Given the description of an element on the screen output the (x, y) to click on. 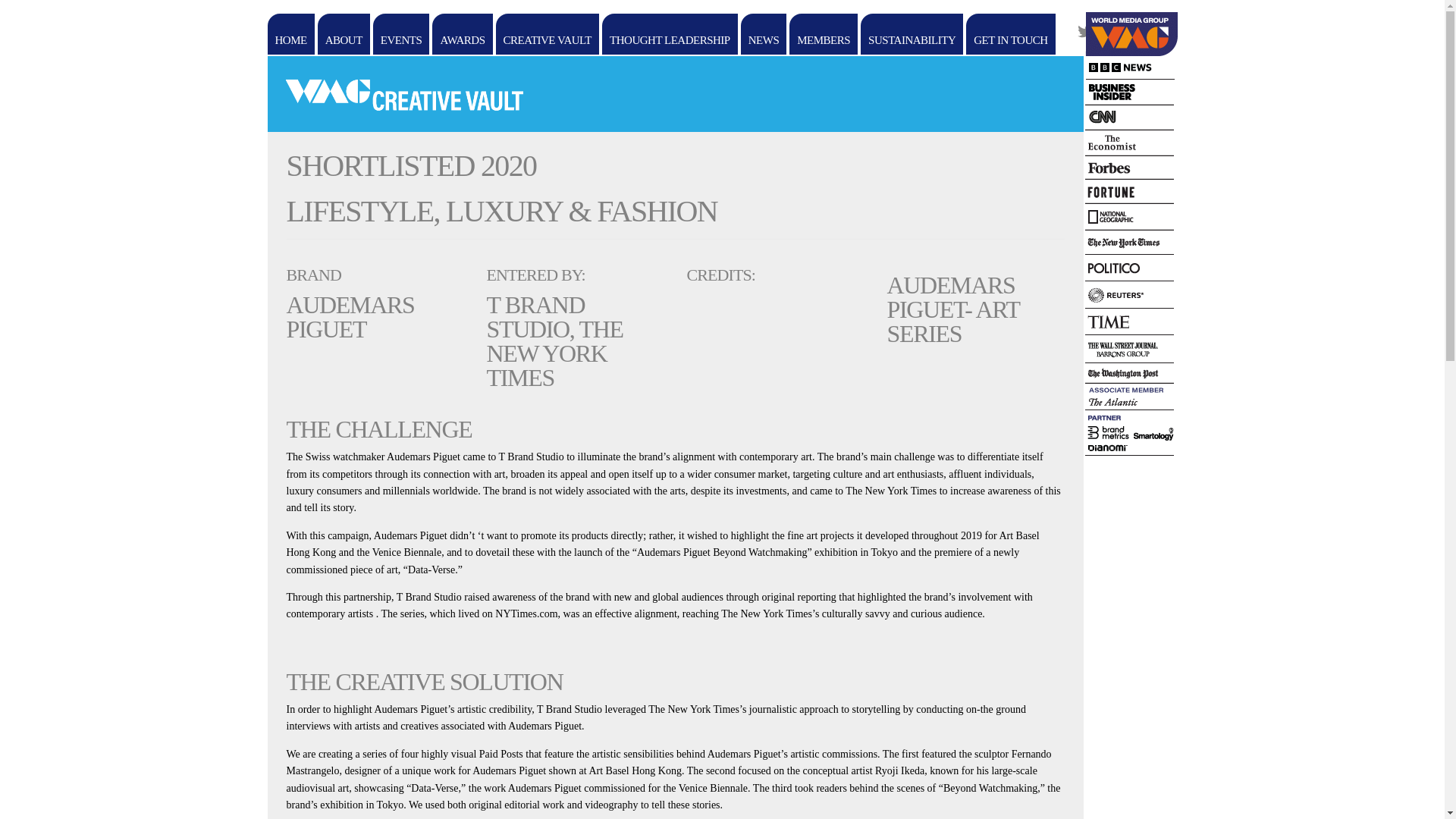
EVENTS (400, 33)
NEWS (764, 33)
HOME (290, 33)
THOUGHT LEADERSHIP (670, 33)
AWARDS (462, 33)
ABOUT (343, 33)
SUSTAINABILITY (911, 33)
CREATIVE VAULT (547, 33)
MEMBERS (823, 33)
